Given the description of an element on the screen output the (x, y) to click on. 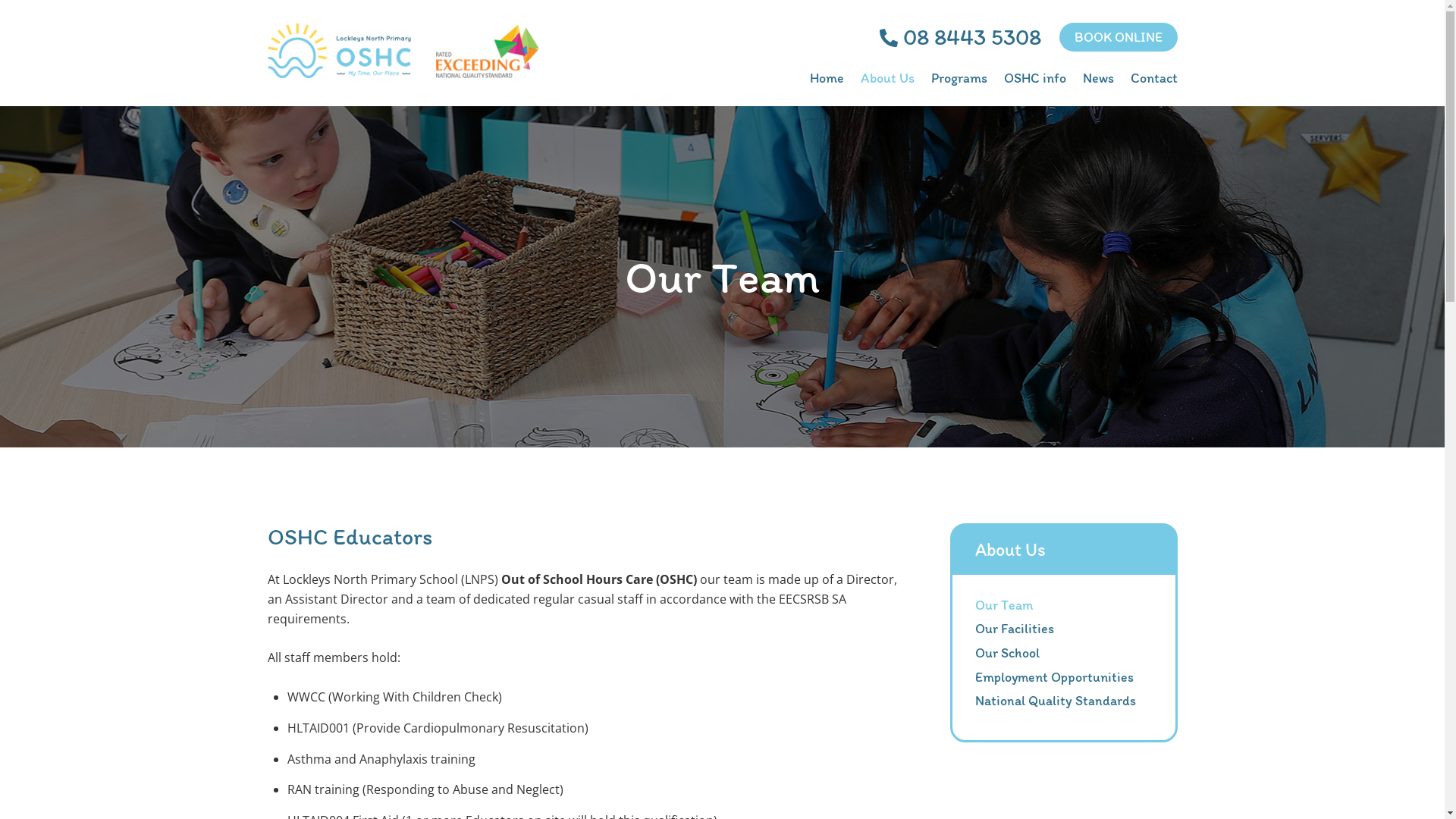
Employment Opportunities Element type: text (1054, 676)
BOOK ONLINE Element type: text (1117, 36)
Our School Element type: text (1007, 652)
Home Element type: text (826, 78)
National Quality Standards Element type: text (1055, 700)
Our Facilities Element type: text (1014, 628)
Programs Element type: text (959, 78)
Our Team Element type: text (1003, 604)
About Us Element type: text (886, 78)
08 8443 5308 Element type: text (960, 36)
News Element type: text (1097, 78)
Contact Element type: text (1152, 78)
OSHC info Element type: text (1035, 78)
